Given the description of an element on the screen output the (x, y) to click on. 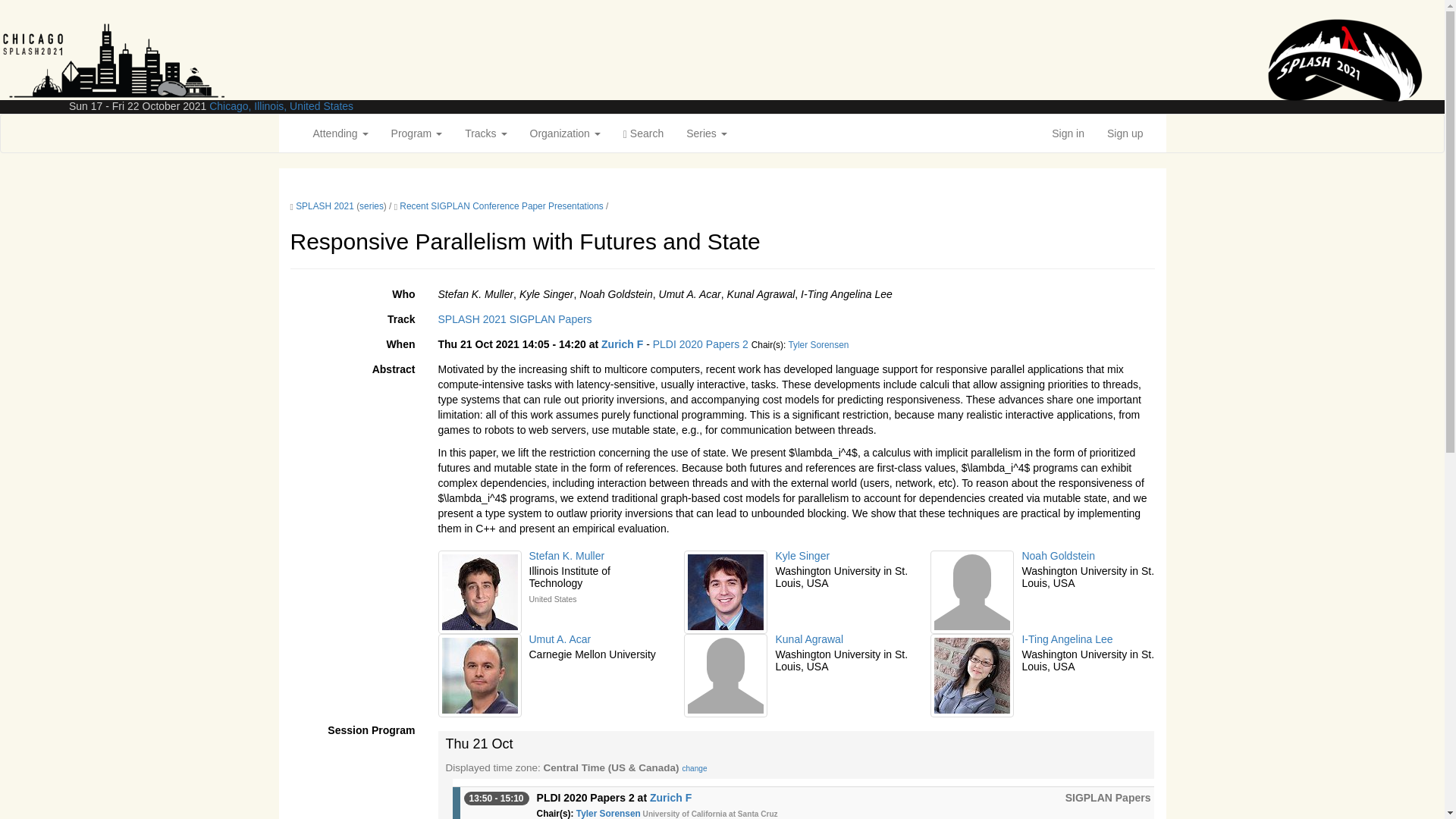
Tracks (485, 133)
Program (417, 133)
Attending (340, 133)
Chicago, Illinois, United States (281, 105)
